Given the description of an element on the screen output the (x, y) to click on. 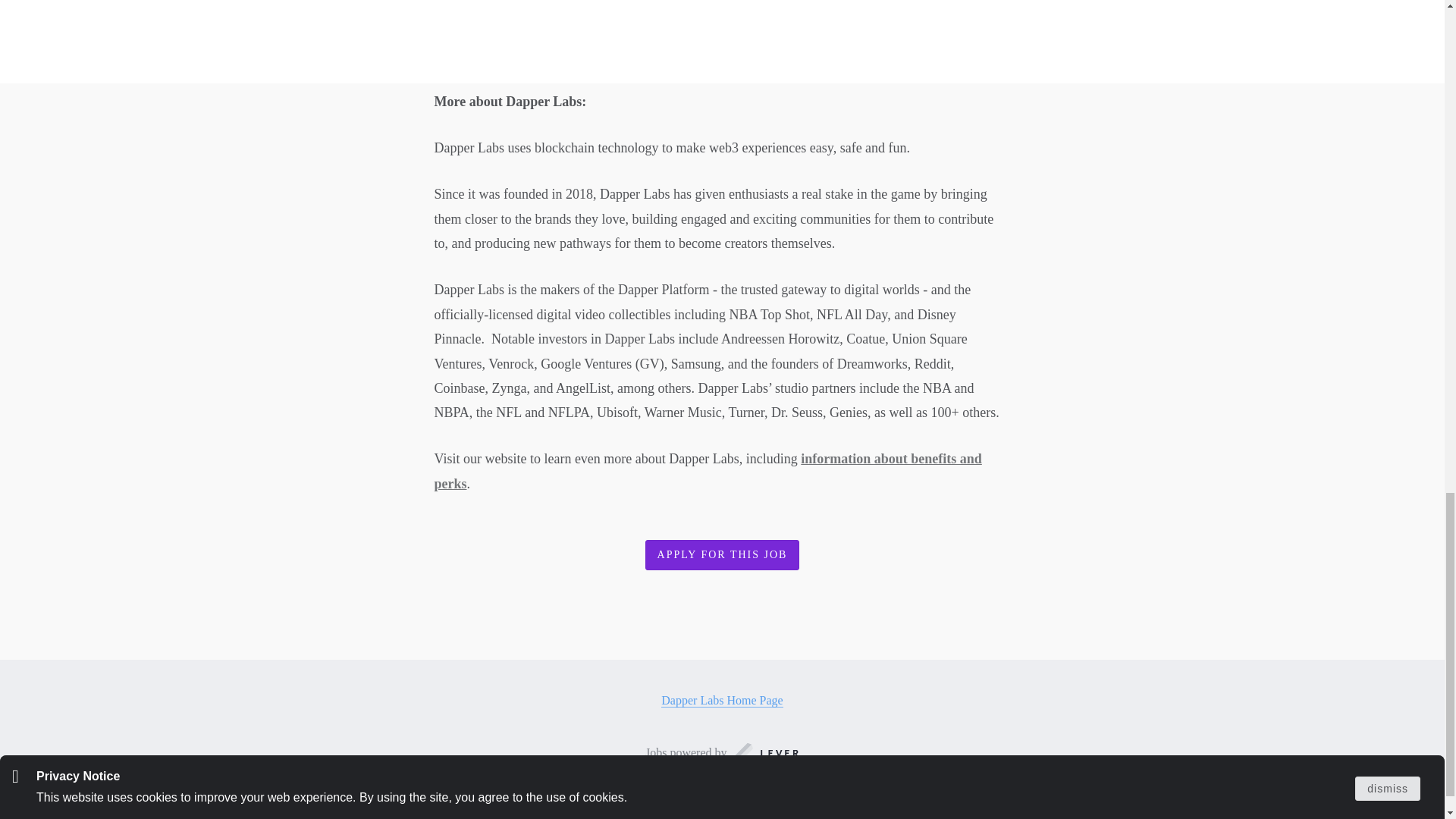
information about benefits and perks (707, 470)
Dapper Labs Home Page (722, 700)
Jobs powered by (722, 753)
APPLY FOR THIS JOB (722, 554)
